Given the description of an element on the screen output the (x, y) to click on. 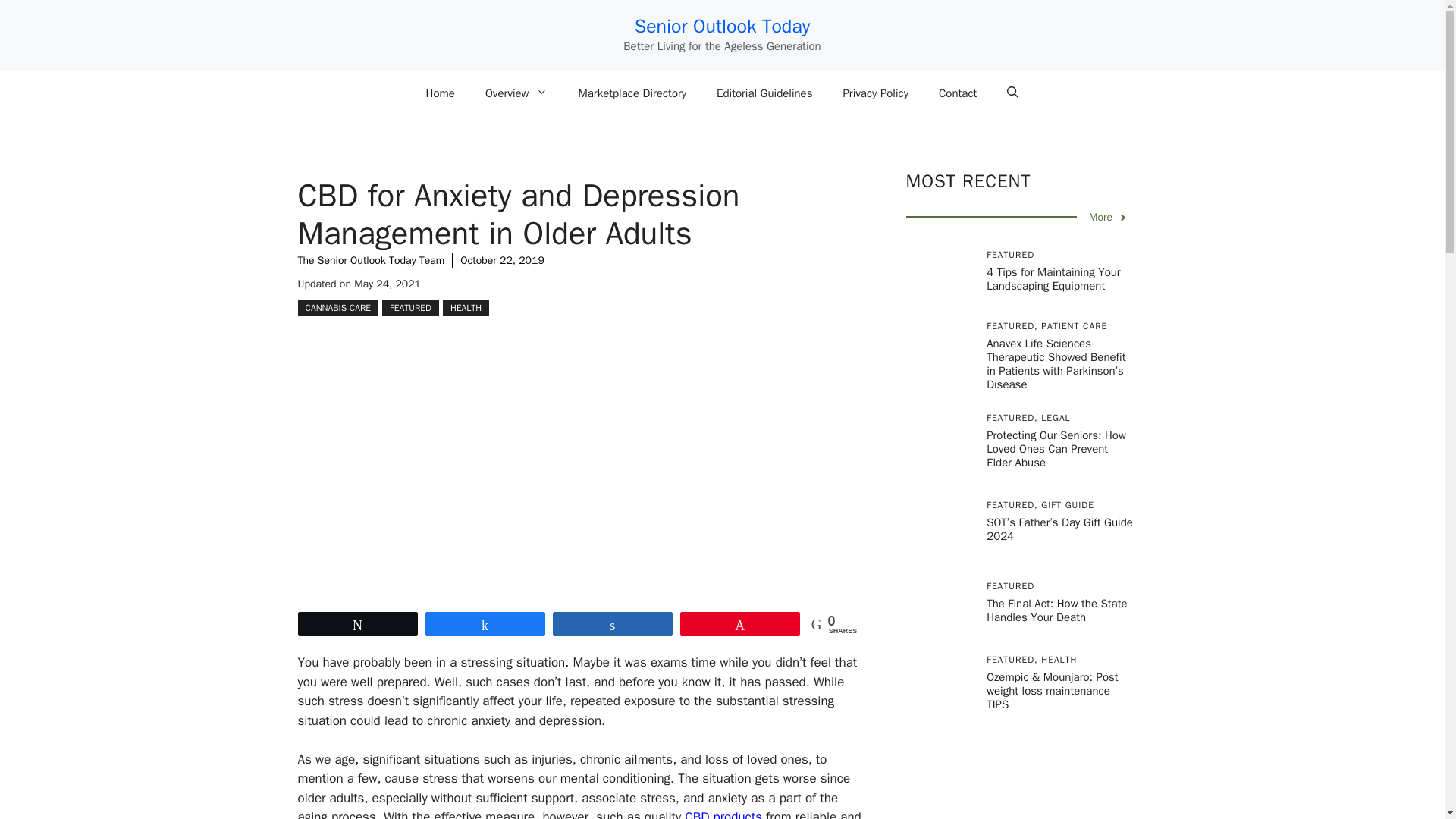
CBD products (722, 814)
CANNABIS CARE (337, 307)
Editorial Guidelines (764, 92)
HEALTH (465, 307)
The Senior Outlook Today Team (370, 259)
Marketplace Directory (631, 92)
More (1108, 217)
Contact (957, 92)
4 Tips for Maintaining Your Landscaping Equipment (1053, 278)
Overview (516, 92)
Home (440, 92)
Privacy Policy (875, 92)
Senior Outlook Today (722, 25)
FEATURED (410, 307)
